Given the description of an element on the screen output the (x, y) to click on. 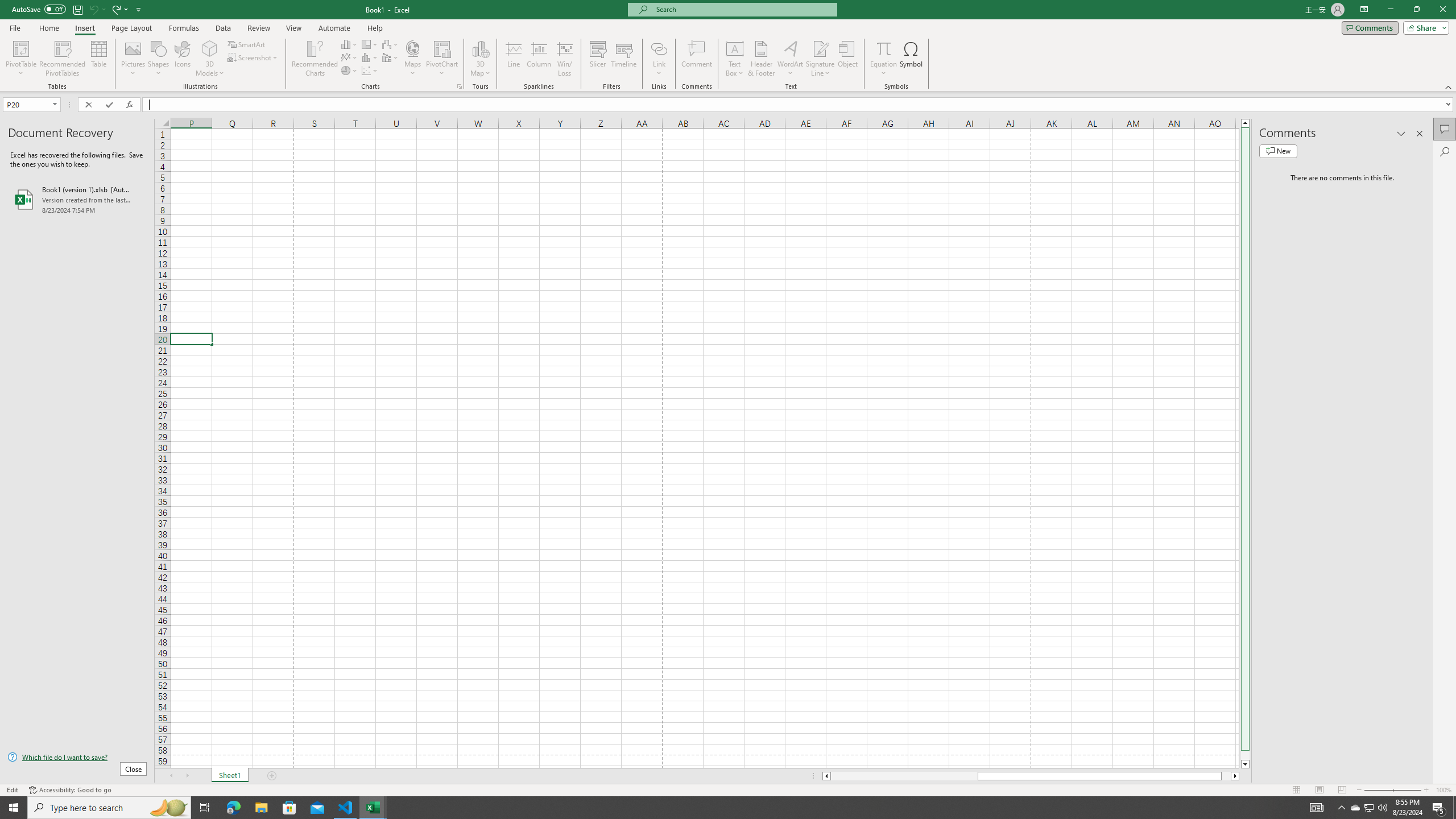
Signature Line (820, 48)
Close (1442, 9)
Comments (1369, 27)
Draw Horizontal Text Box (734, 48)
Timeline (623, 58)
Insert (83, 28)
Data (223, 28)
Comment (696, 58)
View (293, 28)
Redo (115, 9)
Automate (334, 28)
Restore Down (1416, 9)
Class: NetUIScrollBar (1030, 775)
Insert Scatter (X, Y) or Bubble Chart (369, 69)
